Given the description of an element on the screen output the (x, y) to click on. 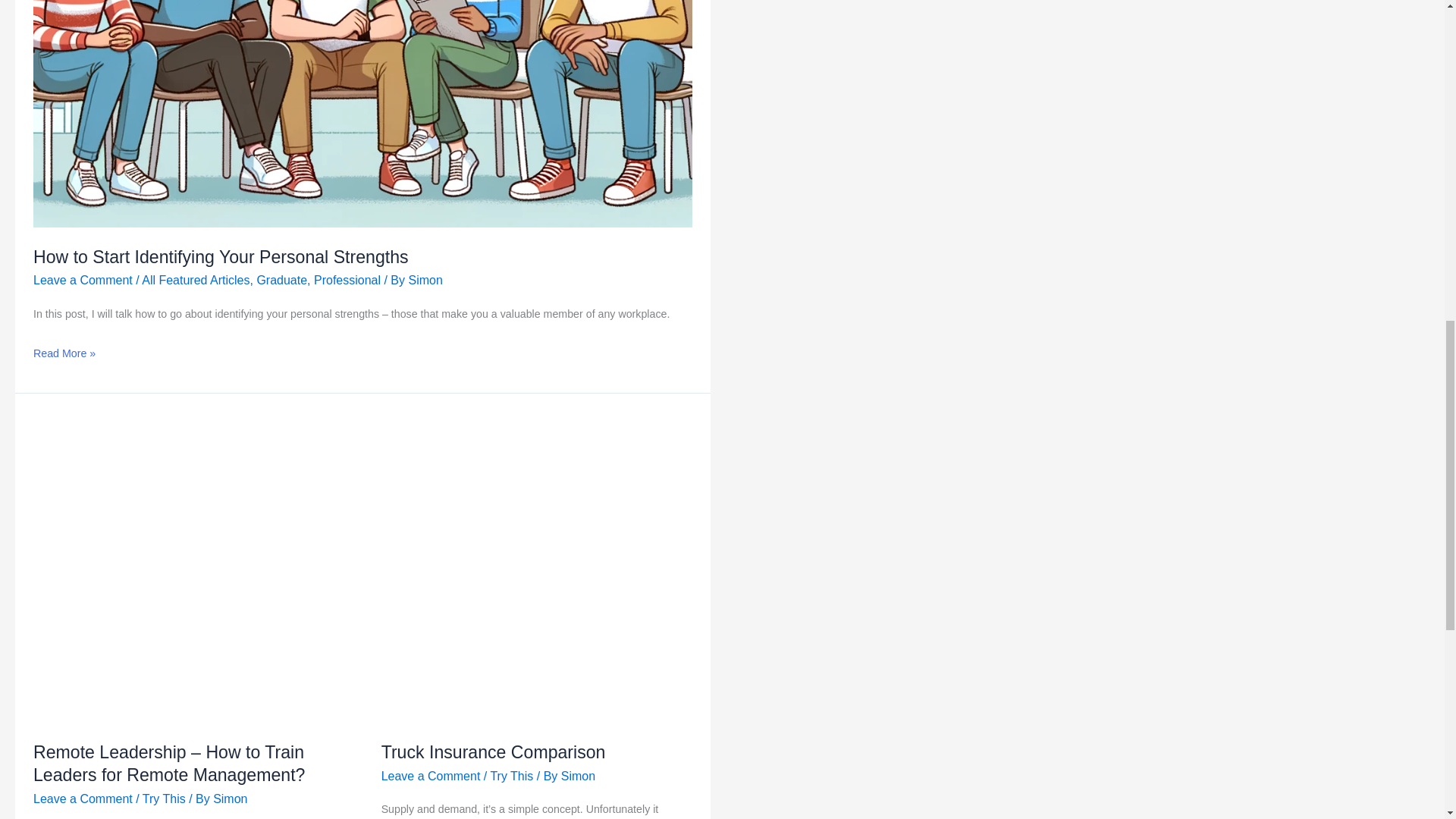
View all posts by Simon (577, 775)
Simon (229, 798)
Try This (164, 798)
Professional (347, 279)
How to Start Identifying Your Personal Strengths (221, 256)
Leave a Comment (82, 798)
View all posts by Simon (424, 279)
Graduate (281, 279)
View all posts by Simon (229, 798)
Leave a Comment (82, 279)
